Given the description of an element on the screen output the (x, y) to click on. 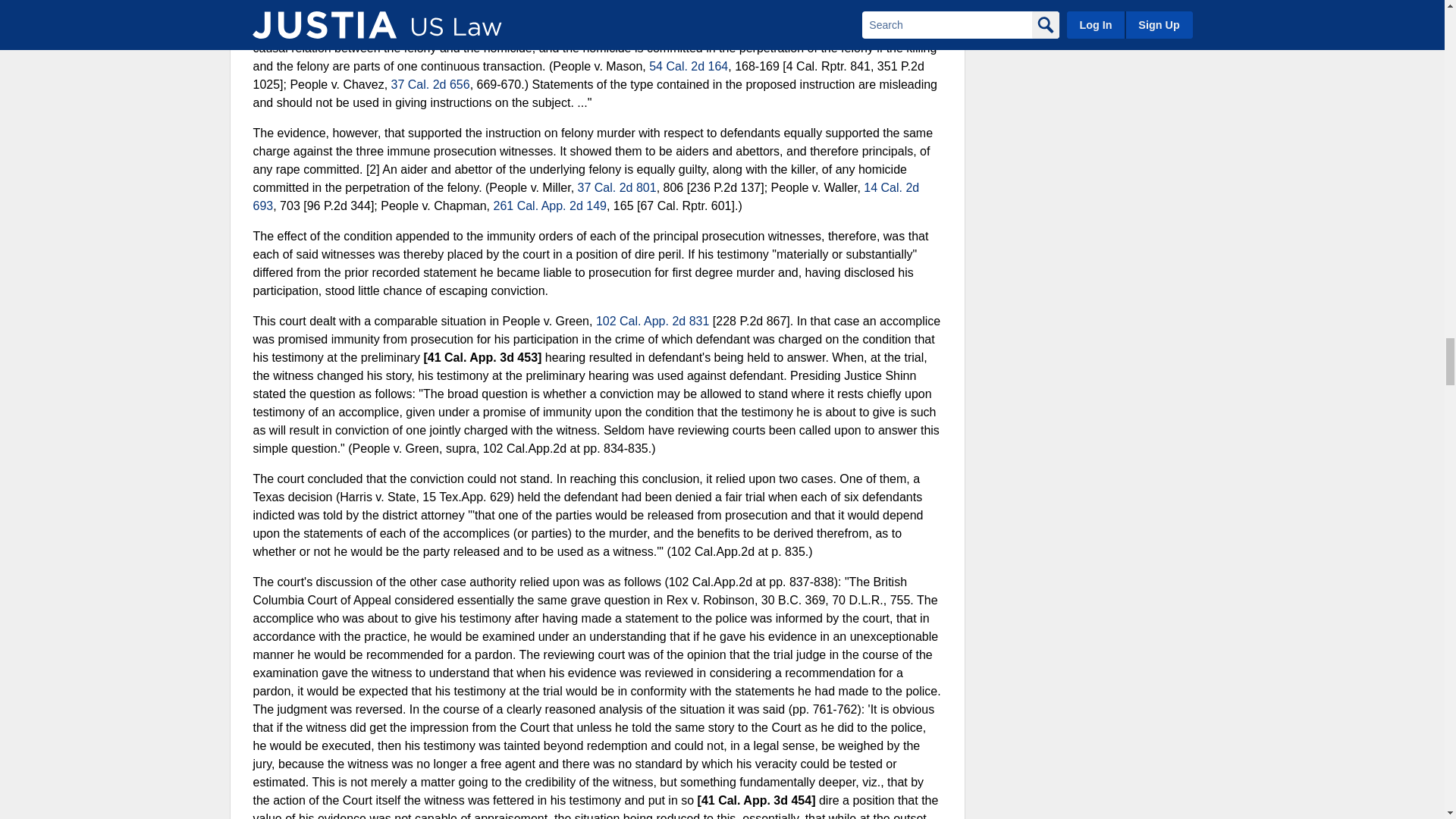
54 Cal. 2d 164 (688, 65)
37 Cal. 2d 656 (430, 83)
14 Cal. 2d 693 (586, 196)
37 Cal. 2d 801 (617, 187)
261 Cal. App. 2d 149 (549, 205)
